Given the description of an element on the screen output the (x, y) to click on. 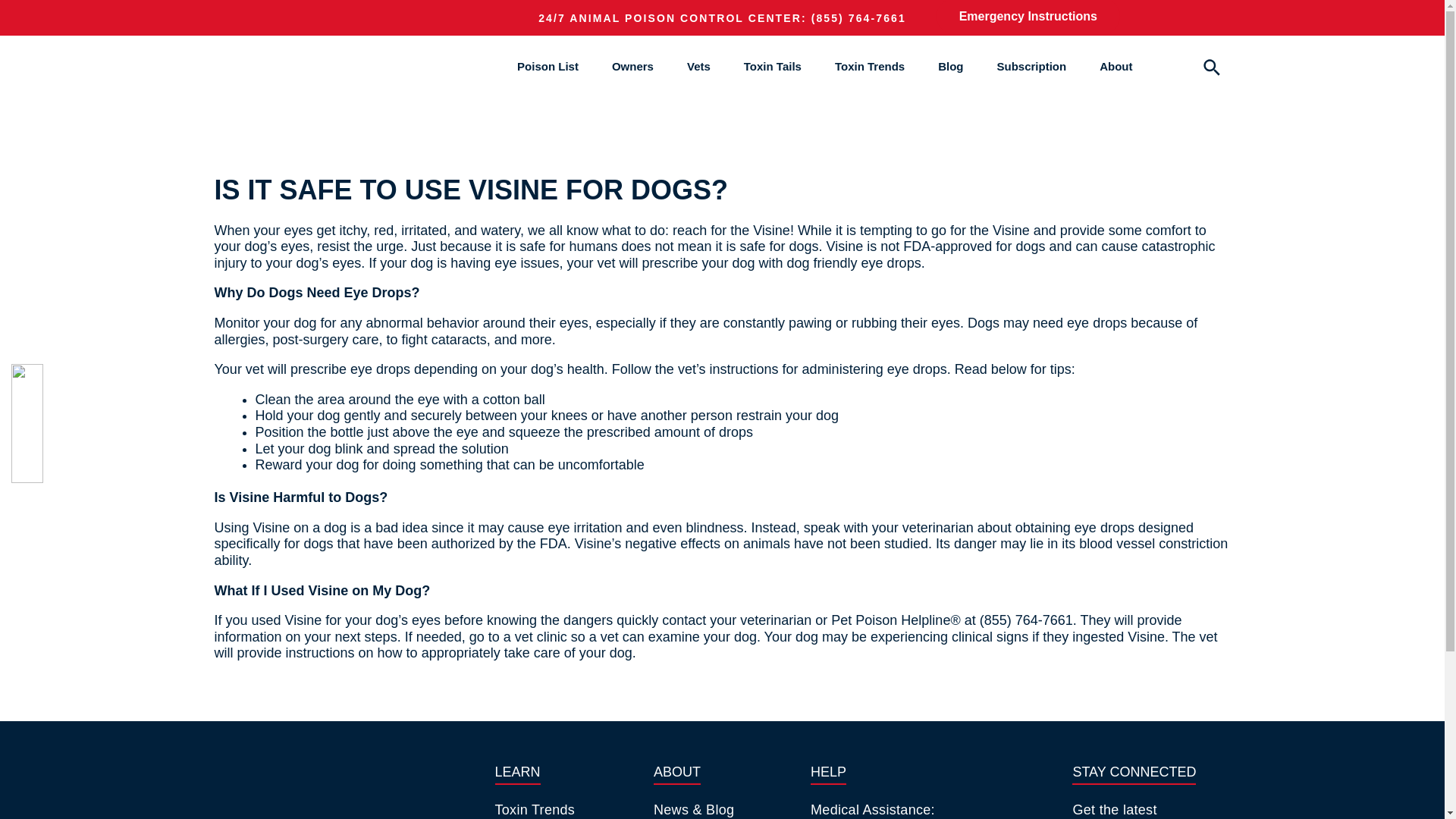
Toxin Trends (869, 65)
Emergency Instructions (1027, 17)
Blog (949, 65)
Subscription (1030, 65)
Vets (698, 65)
Poison List (547, 65)
About (1115, 65)
Owners (632, 65)
Toxin Tails (773, 65)
